Given the description of an element on the screen output the (x, y) to click on. 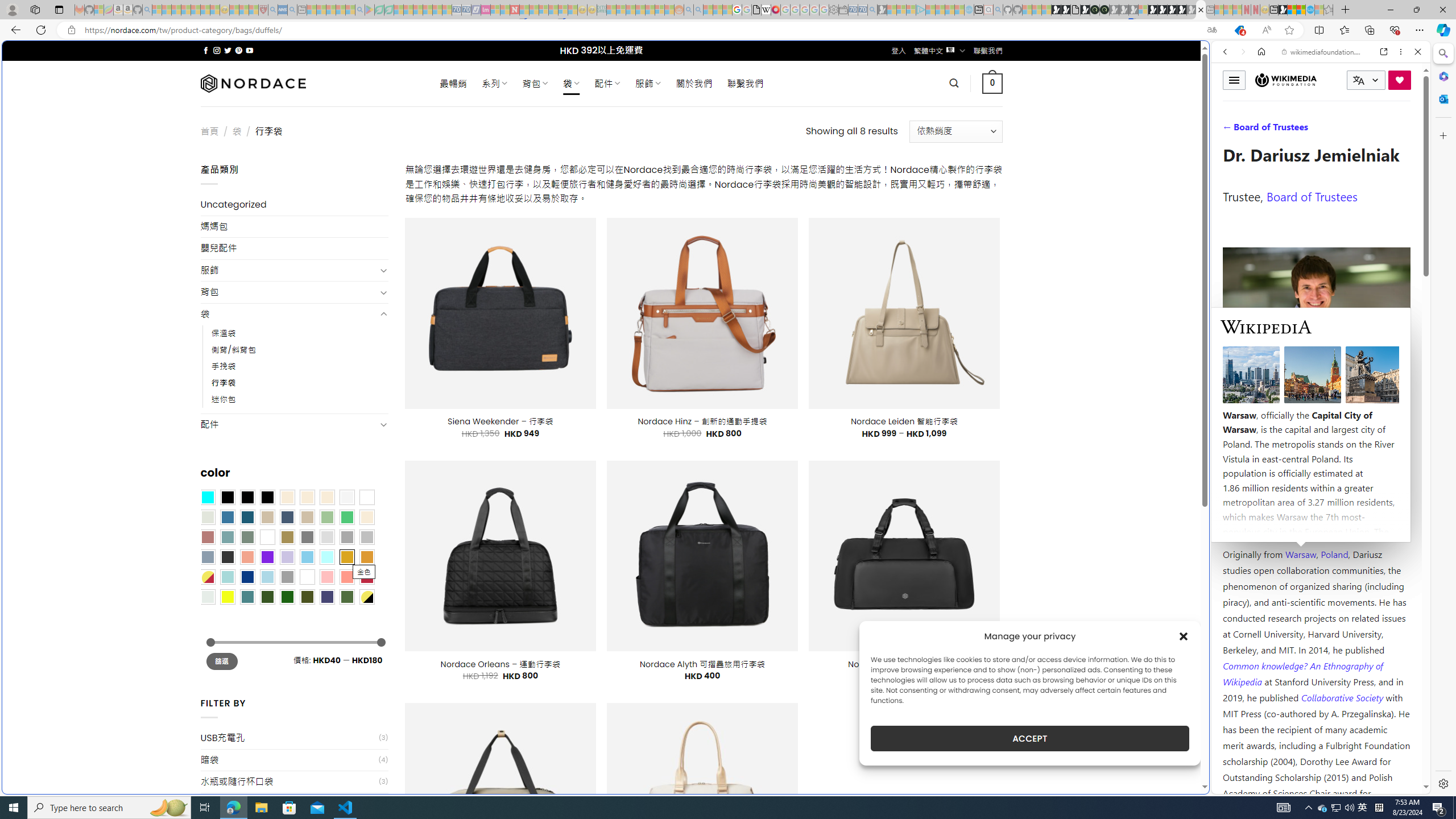
Local - MSN - Sleeping (253, 9)
Search or enter web address (922, 108)
Settings - Sleeping (833, 9)
Latest Politics News & Archive | Newsweek.com - Sleeping (514, 9)
